Given the description of an element on the screen output the (x, y) to click on. 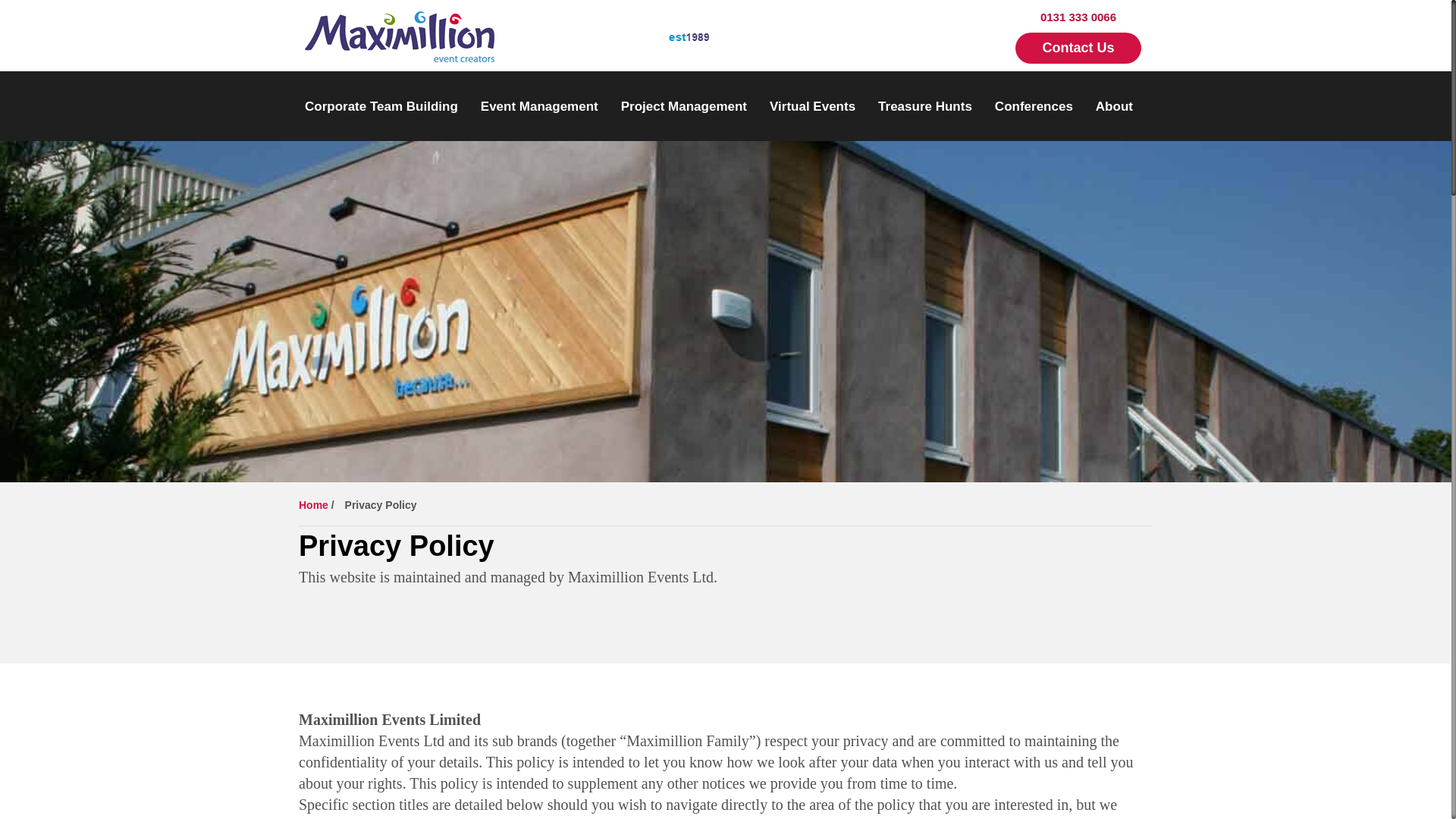
Virtual Events (813, 106)
Treasure Hunts (924, 106)
Conferences (1033, 106)
About (1114, 106)
Event Management (539, 106)
Project Management (683, 106)
Home (313, 504)
Corporate Team Building (381, 106)
Contact Us (1077, 47)
0131 333 0066 (1078, 16)
